Given the description of an element on the screen output the (x, y) to click on. 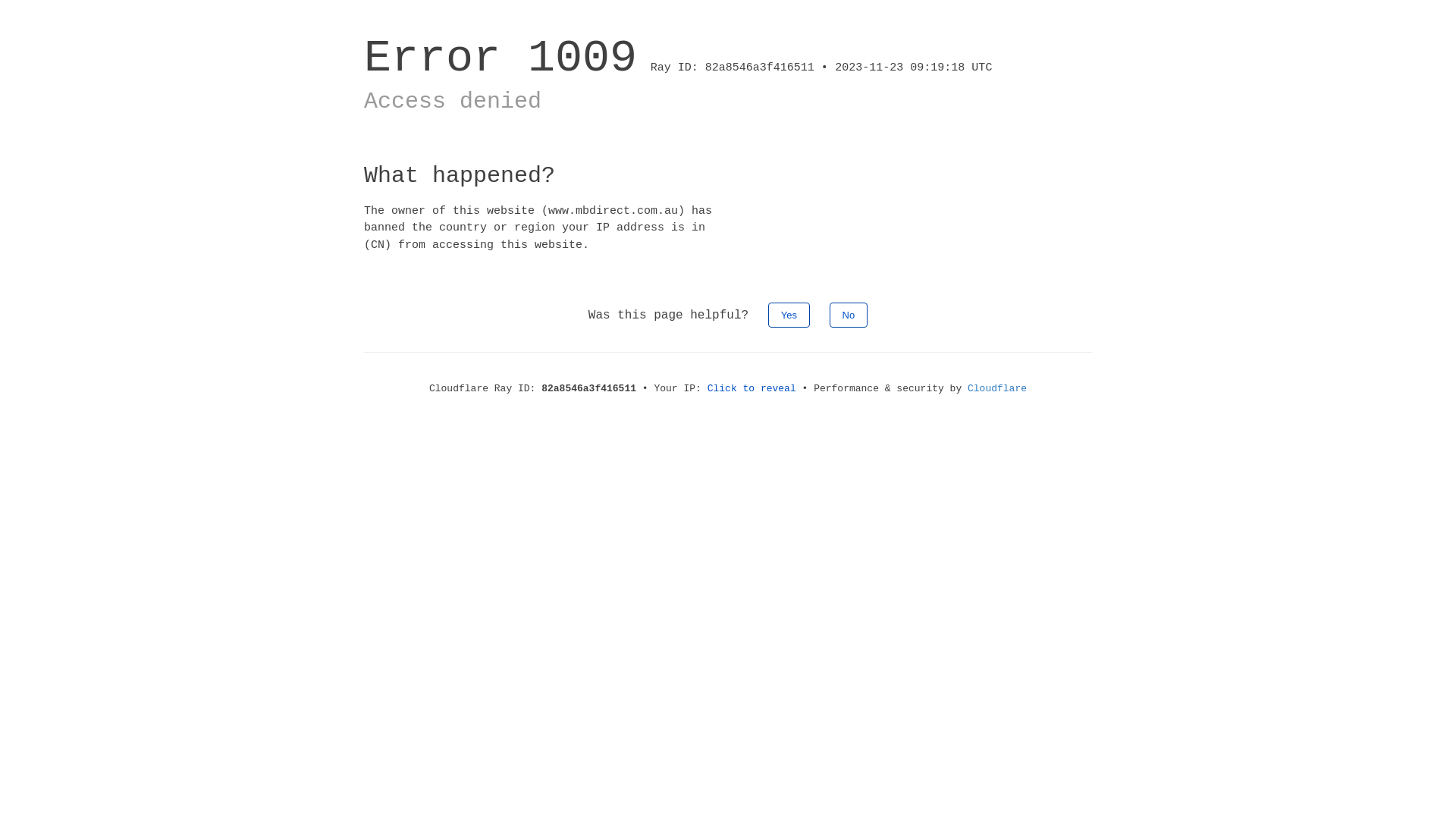
Click to reveal Element type: text (751, 388)
Cloudflare Element type: text (996, 388)
No Element type: text (848, 314)
Yes Element type: text (788, 314)
